Given the description of an element on the screen output the (x, y) to click on. 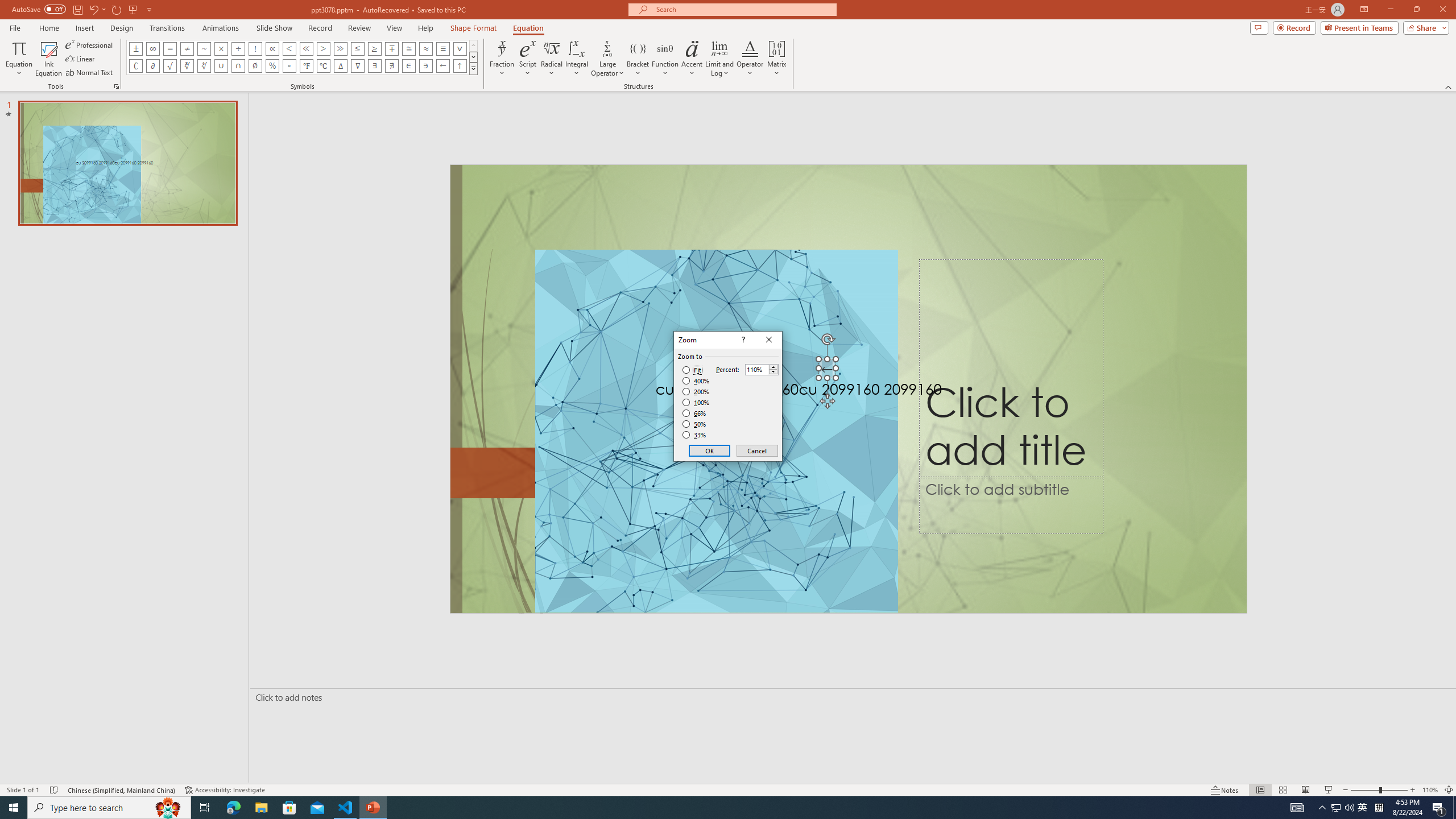
400% (696, 380)
Equation Symbol Degrees Celsius (322, 65)
Limit and Log (719, 58)
Equation Symbol Multiplication Sign (221, 48)
Equation Symbol Element Of (408, 65)
Equation Symbol Contains as Member (425, 65)
Equation Symbol There Exists (374, 65)
Equation (18, 58)
